Given the description of an element on the screen output the (x, y) to click on. 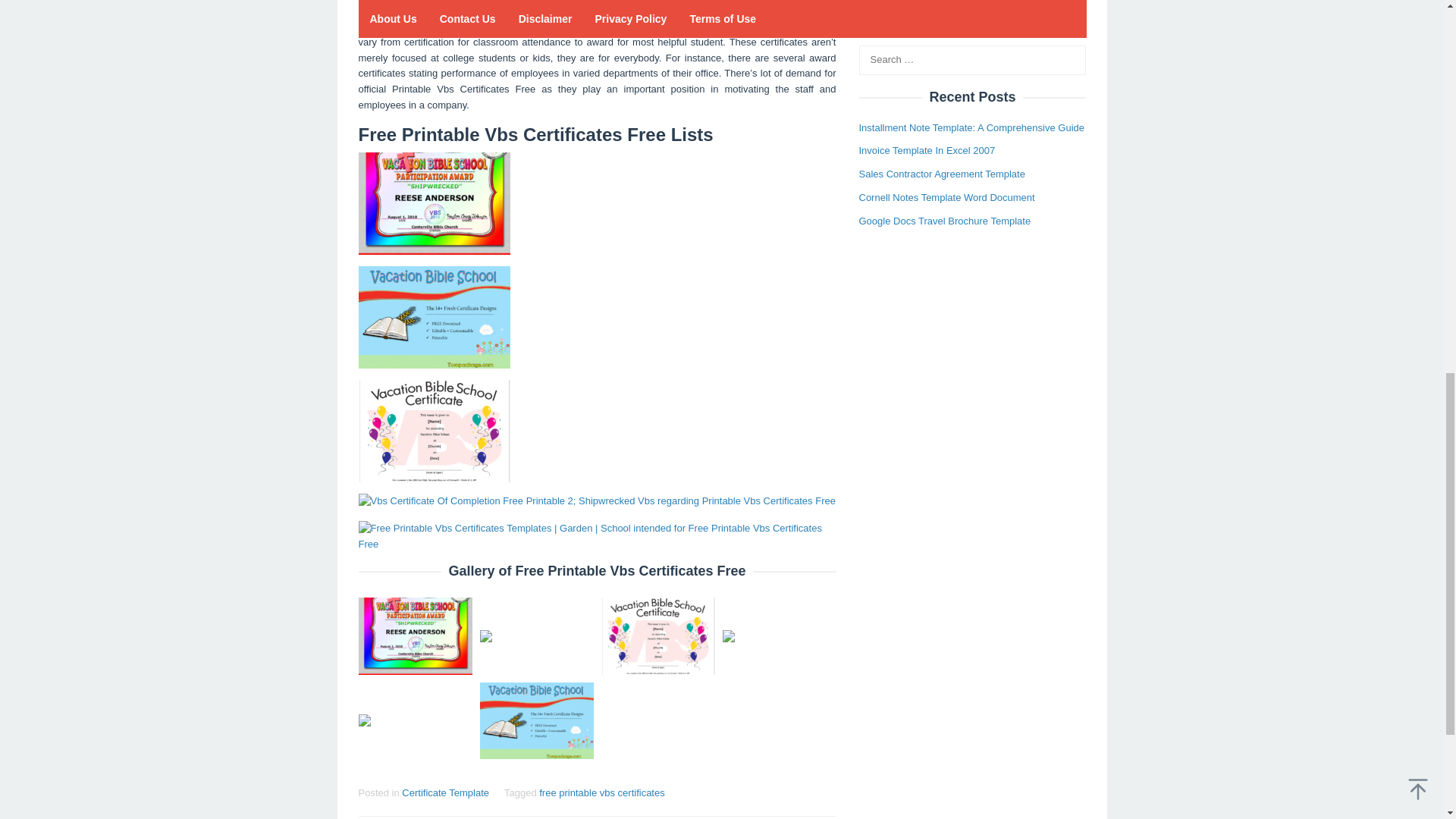
Certificate Template (445, 792)
Free Printable Vbs Certificates Free 1 (433, 203)
Free Printable Vbs Certificates Free 4 (596, 501)
Free Printable Vbs Certificates Free 5 (596, 536)
Free Printable Vbs Certificates Free 2 (433, 317)
free printable vbs certificates (600, 792)
Free Printable Vbs Certificates Free 3 (433, 431)
